Given the description of an element on the screen output the (x, y) to click on. 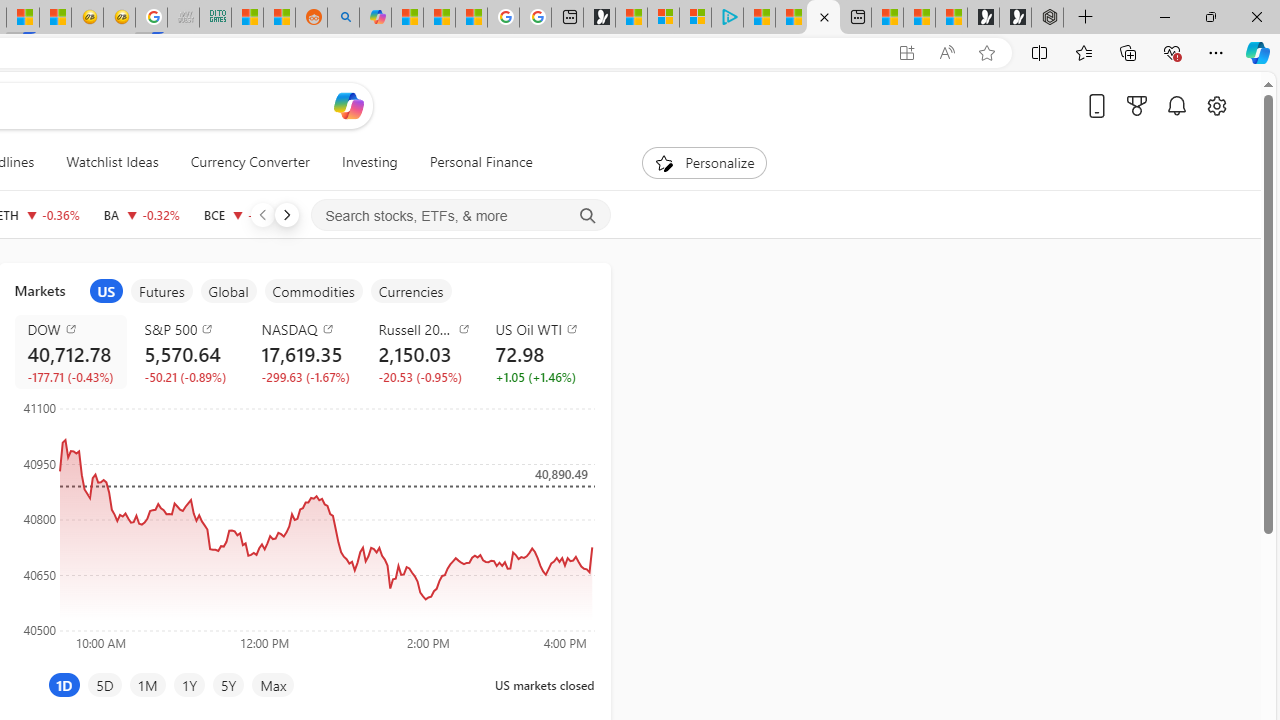
NASDAQ COMP decrease 17,619.35 -299.63 -1.67% (304, 351)
Microsoft Start Gaming (599, 17)
BA THE BOEING COMPANY decrease 172.87 -0.56 -0.32% (141, 214)
Search stocks, ETFs, & more (461, 215)
Previous (262, 214)
1Y (188, 684)
Personal Finance (480, 162)
